Given the description of an element on the screen output the (x, y) to click on. 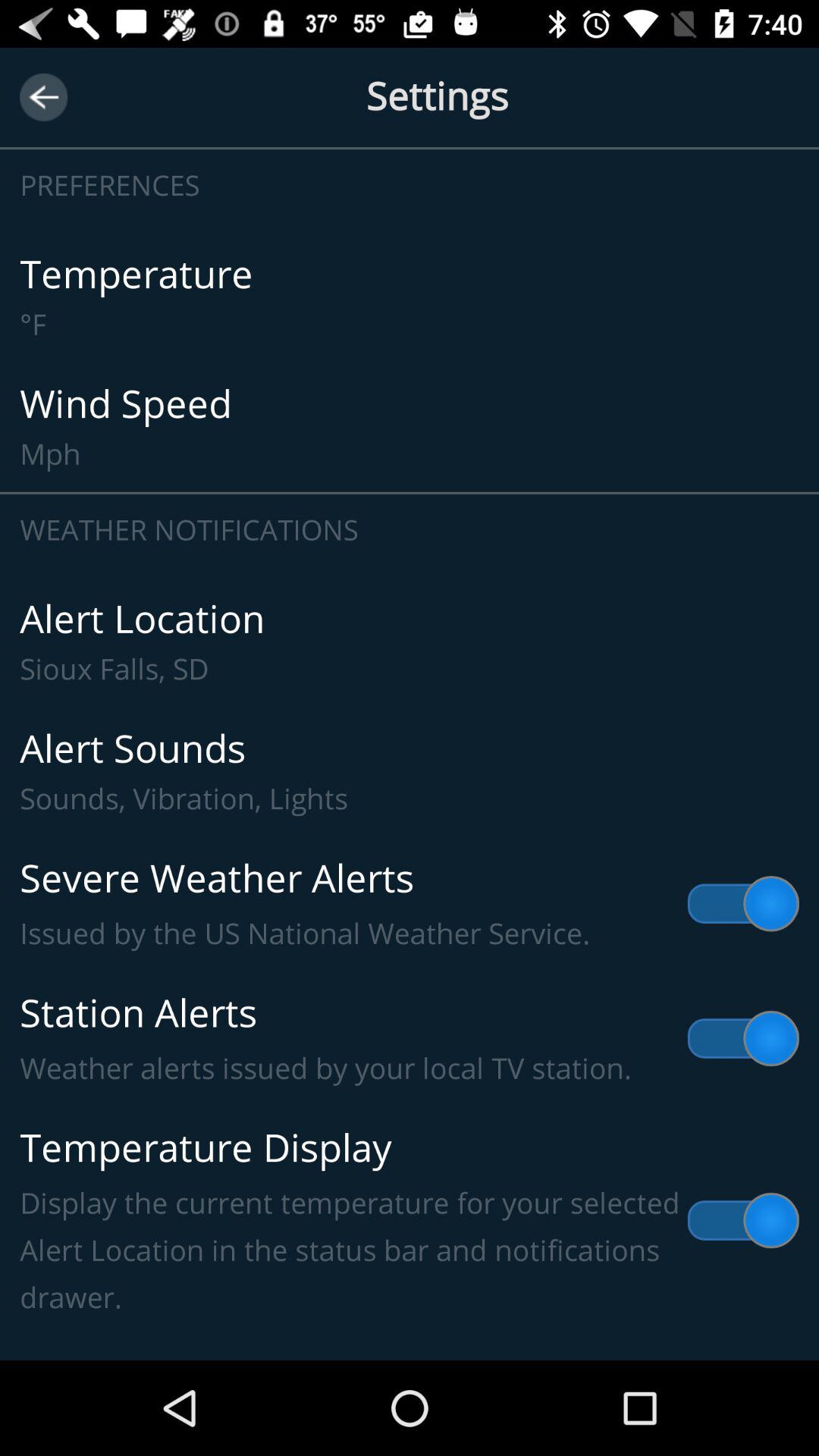
select item below alert location sioux icon (409, 771)
